Given the description of an element on the screen output the (x, y) to click on. 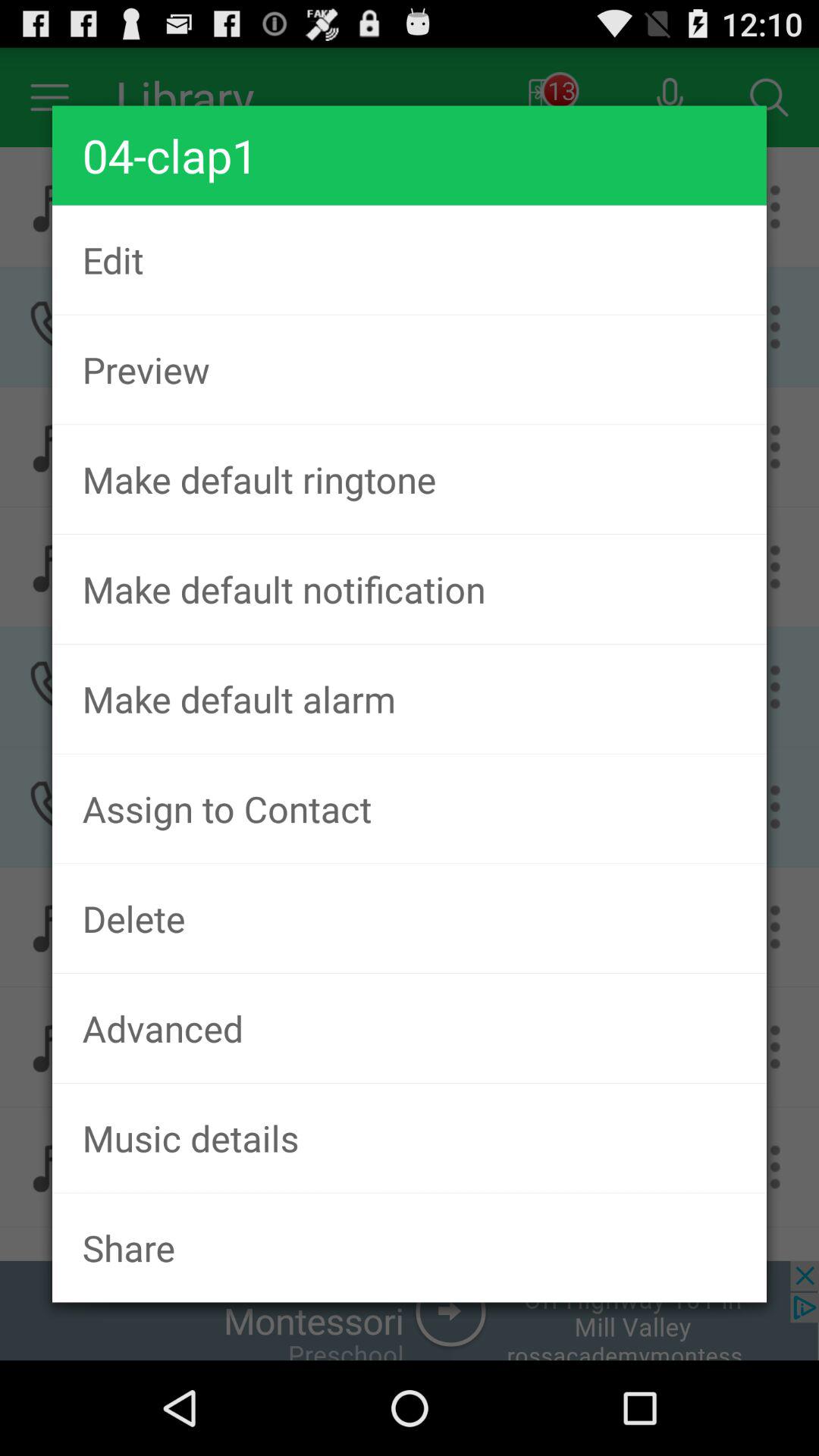
jump until the advanced icon (409, 1027)
